Given the description of an element on the screen output the (x, y) to click on. 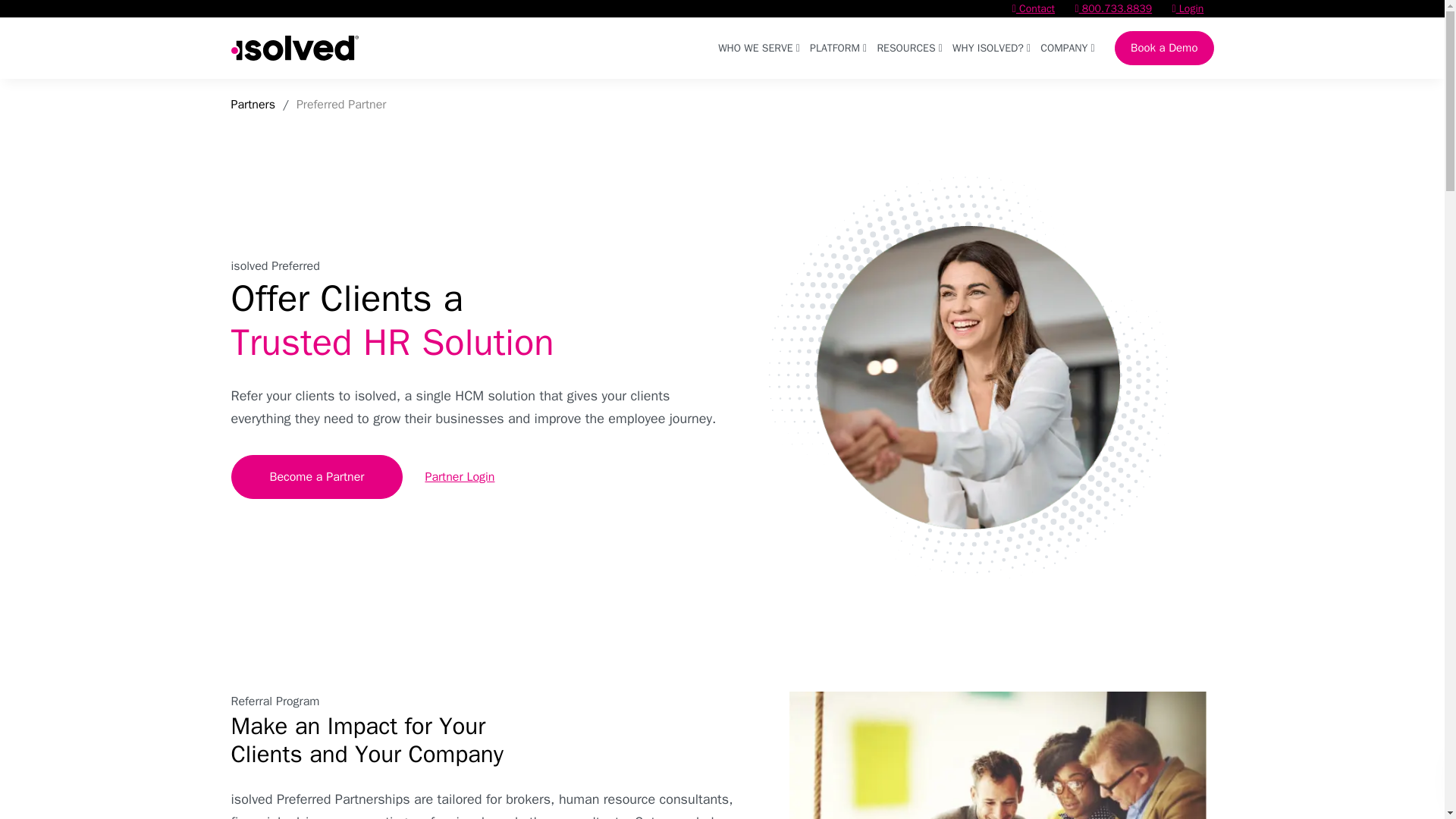
WHO WE SERVE (758, 47)
Login (1188, 8)
PLATFORM (837, 47)
800.733.8839 (1112, 8)
Contact (1032, 8)
